Given the description of an element on the screen output the (x, y) to click on. 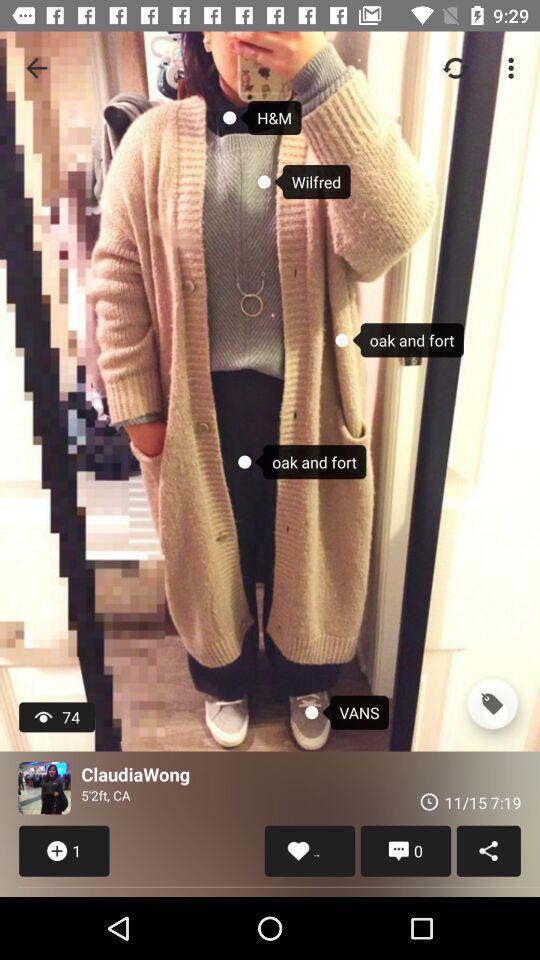
tag toggle (492, 704)
